Given the description of an element on the screen output the (x, y) to click on. 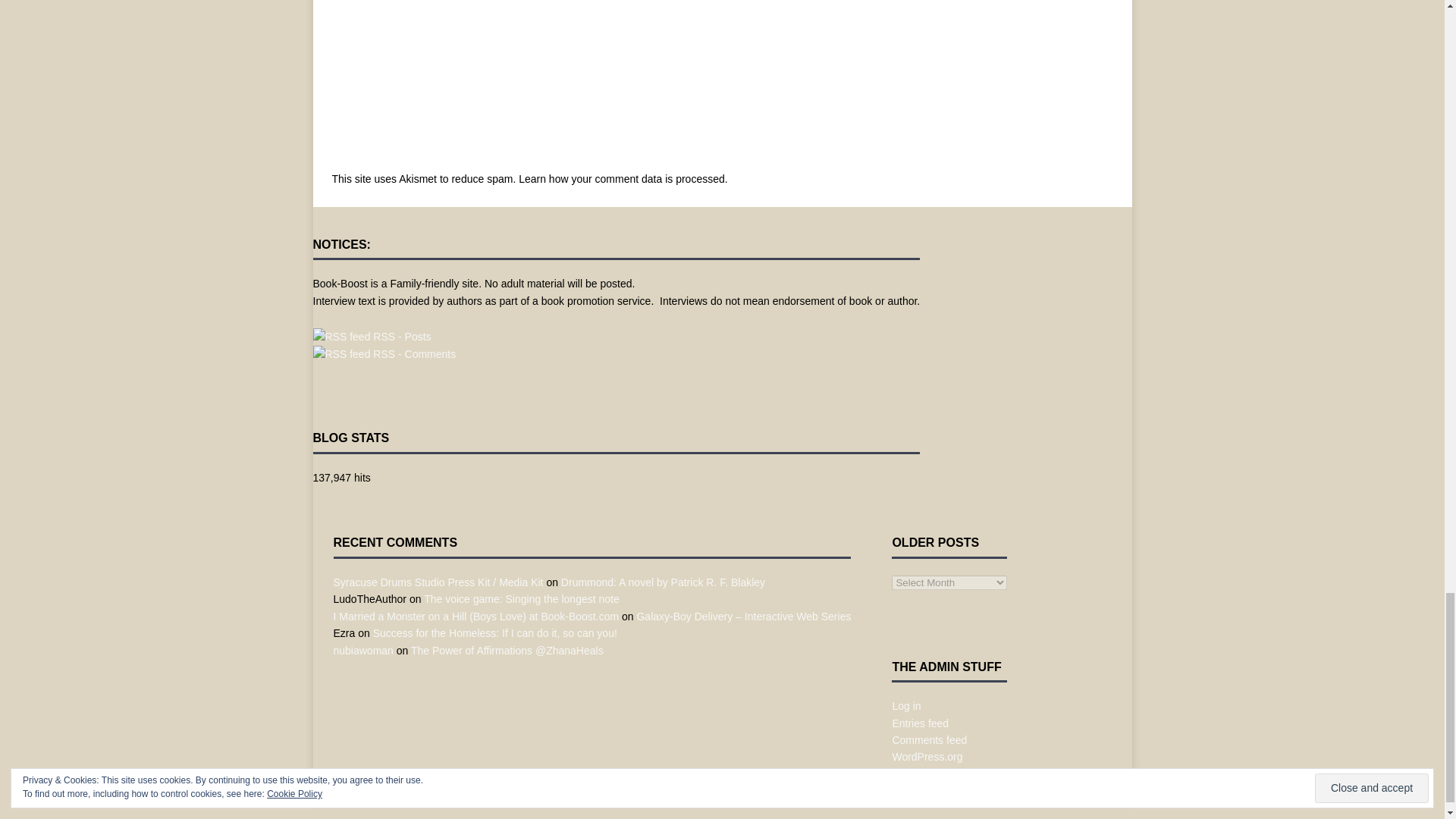
Comment Form (588, 83)
